Given the description of an element on the screen output the (x, y) to click on. 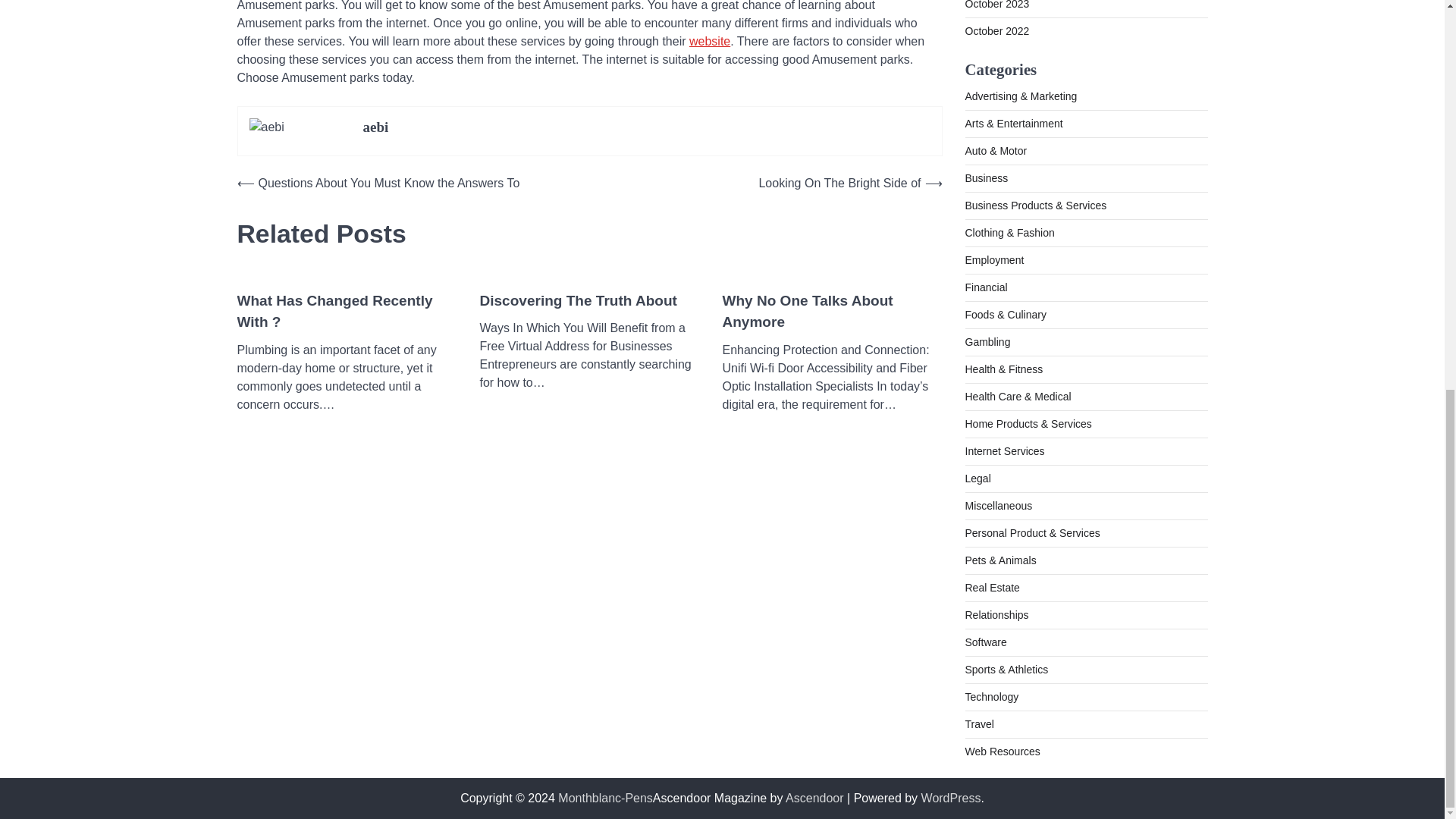
website (709, 41)
Discovering The Truth About (578, 301)
Why No One Talks About Anymore (832, 311)
October 2022 (996, 30)
What Has Changed Recently With ? (346, 311)
Business (985, 177)
October 2023 (996, 4)
